Given the description of an element on the screen output the (x, y) to click on. 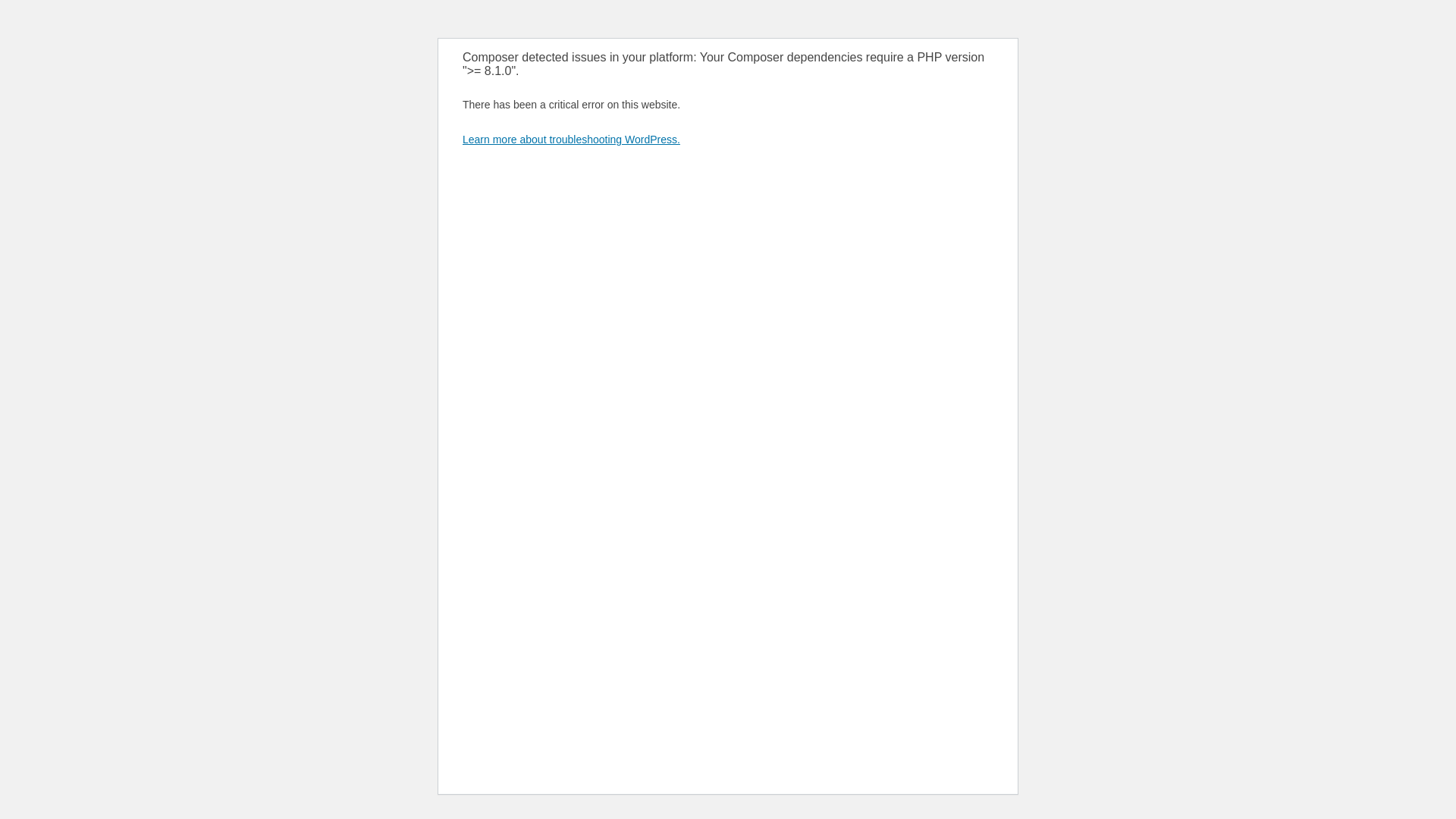
Learn more about troubleshooting WordPress. Element type: text (571, 139)
